Given the description of an element on the screen output the (x, y) to click on. 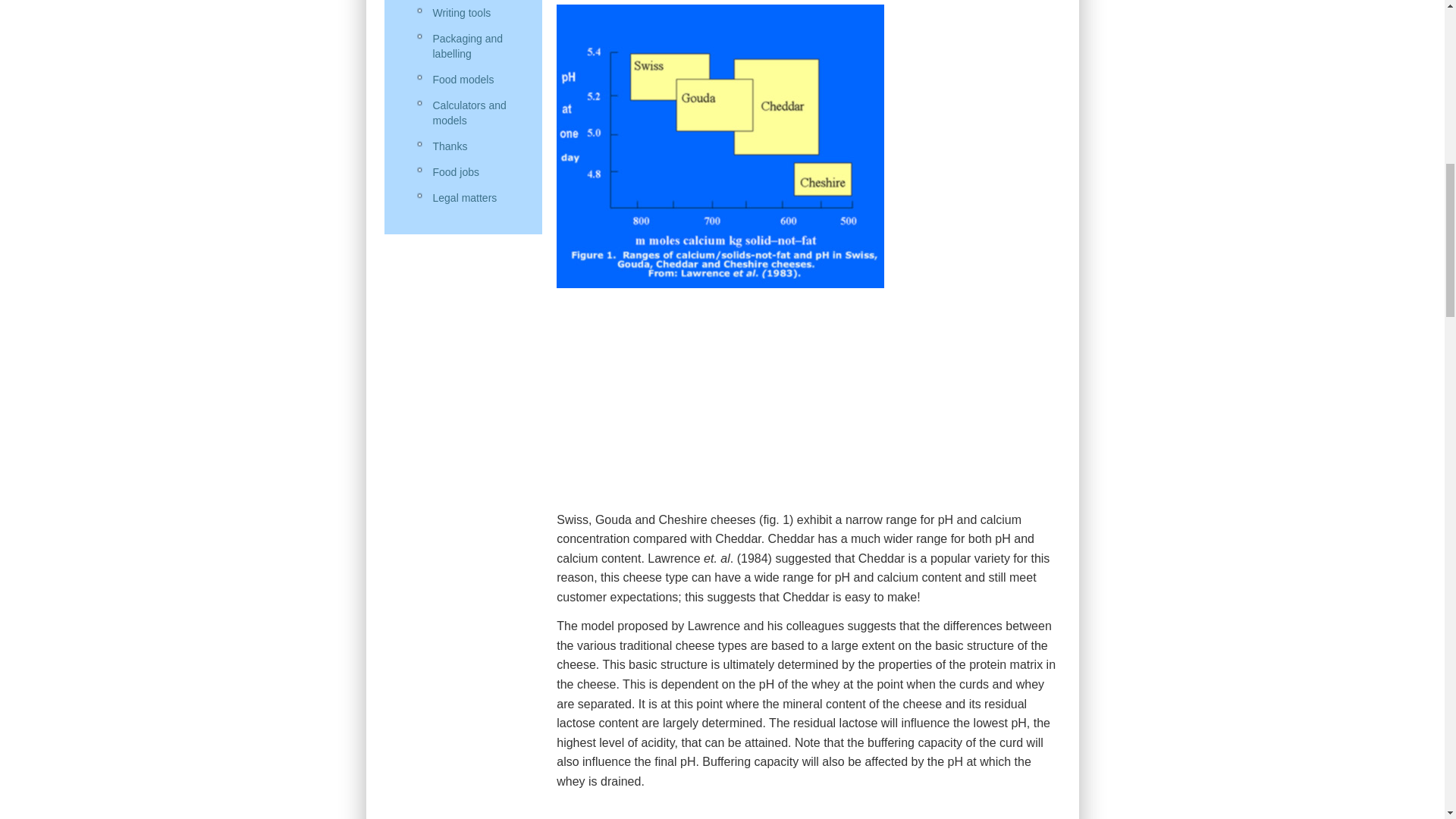
Advertisement (807, 809)
Writing tools (473, 12)
Advertisement (807, 404)
Food models (473, 79)
Packaging and labelling (473, 45)
